Given the description of an element on the screen output the (x, y) to click on. 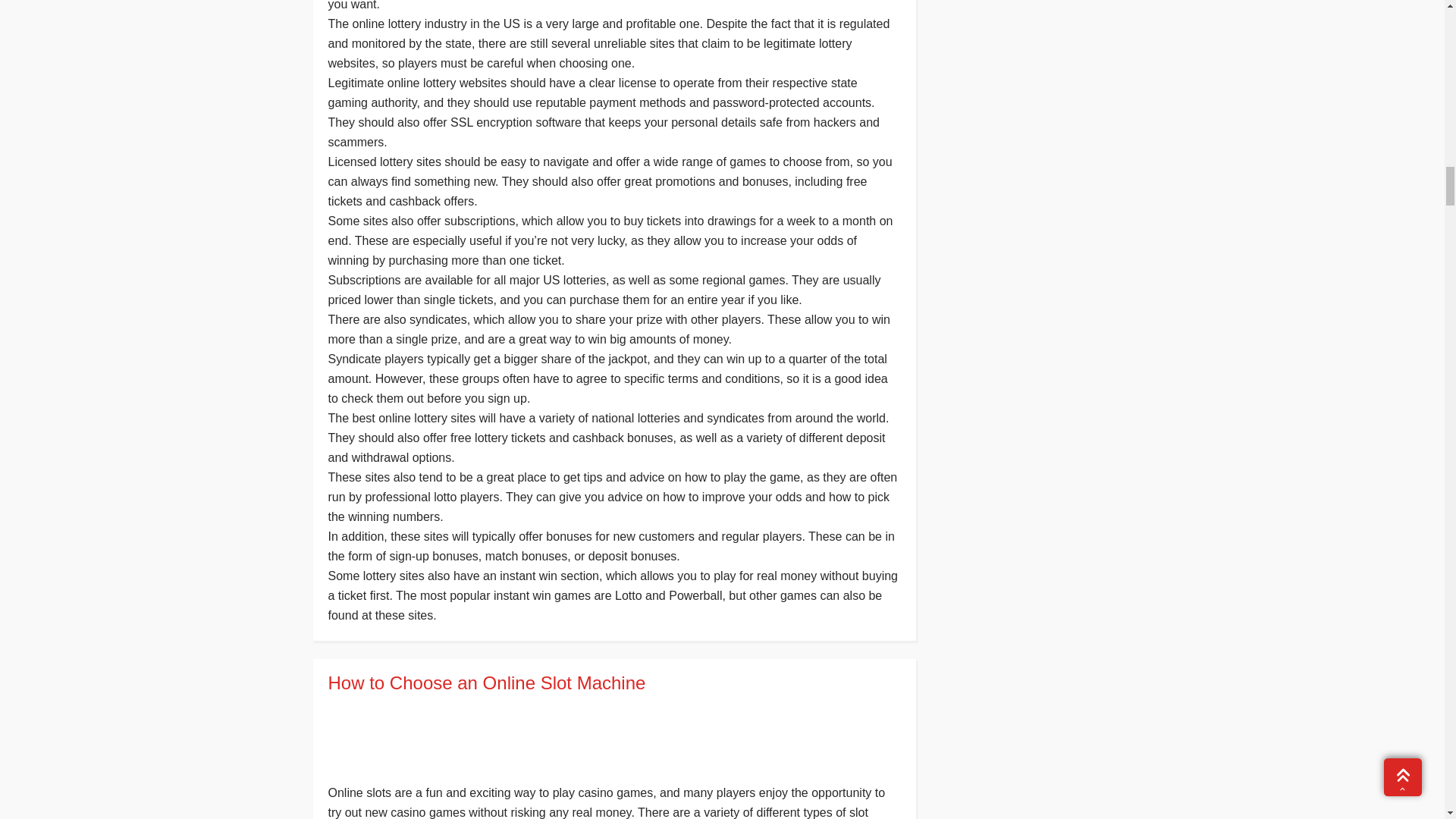
How to Choose an Online Slot Machine (613, 683)
